Given the description of an element on the screen output the (x, y) to click on. 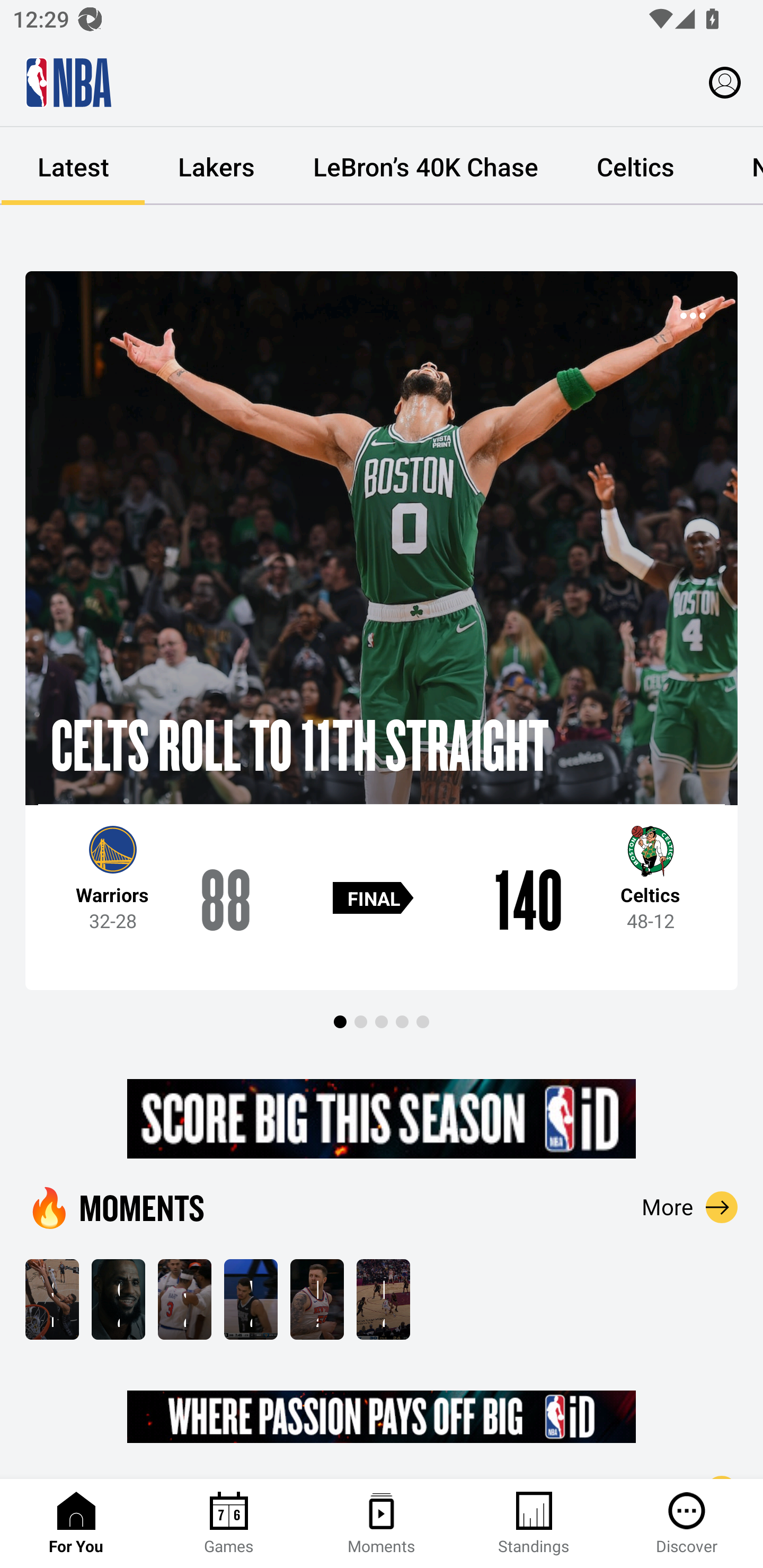
Profile (724, 81)
Lakers (215, 166)
LeBron’s 40K Chase (425, 166)
Celtics (634, 166)
More (689, 1207)
Sunday's Top Plays In 30 Seconds ⏱ (51, 1299)
Hartenstein Drops The Hammer 🔨 (317, 1299)
Games (228, 1523)
Moments (381, 1523)
Standings (533, 1523)
Discover (686, 1523)
